Given the description of an element on the screen output the (x, y) to click on. 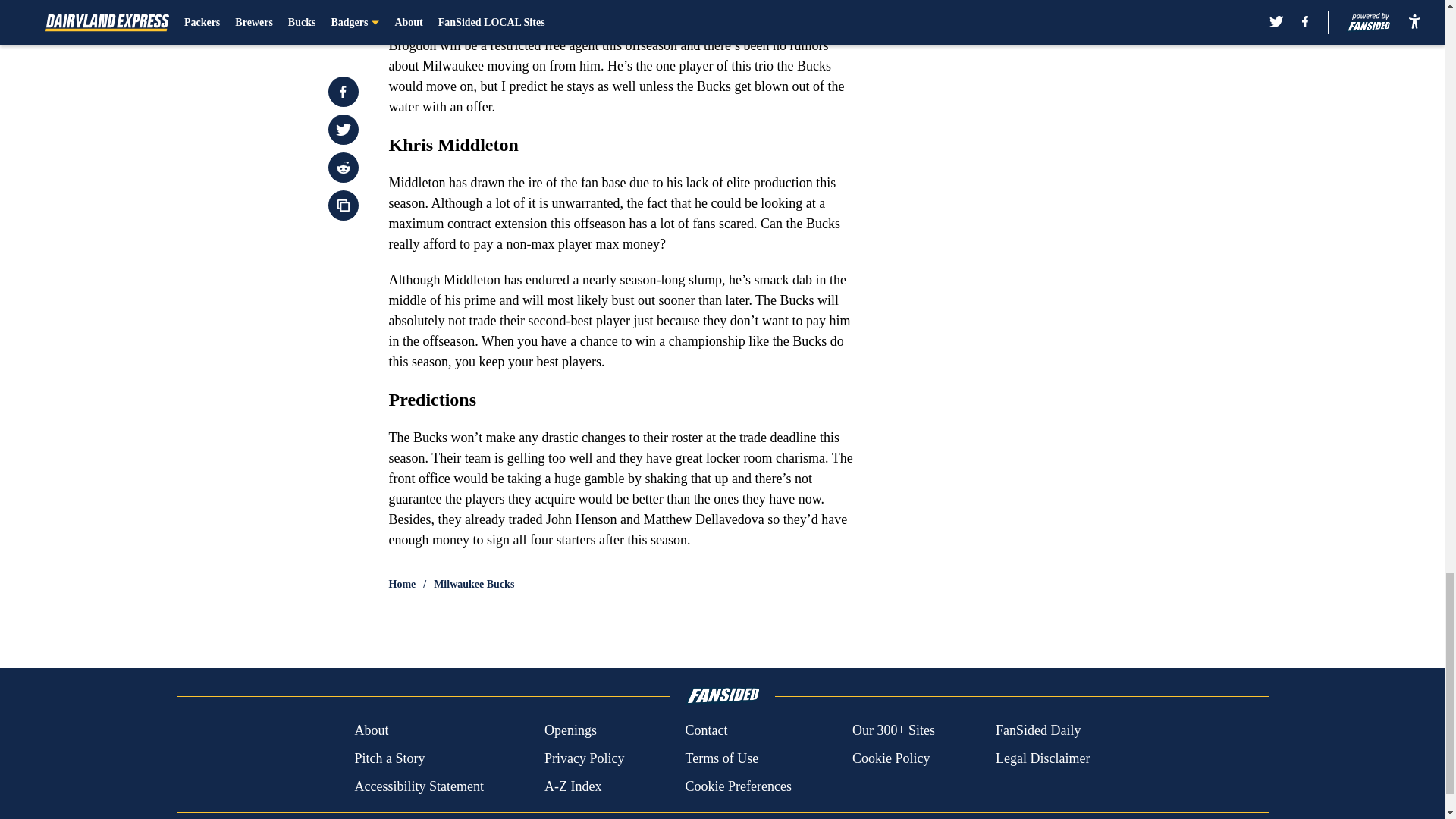
Home (401, 584)
Accessibility Statement (418, 786)
About (370, 730)
Pitch a Story (389, 758)
Contact (705, 730)
Terms of Use (721, 758)
Openings (570, 730)
A-Z Index (572, 786)
Cookie Policy (890, 758)
Privacy Policy (584, 758)
